Given the description of an element on the screen output the (x, y) to click on. 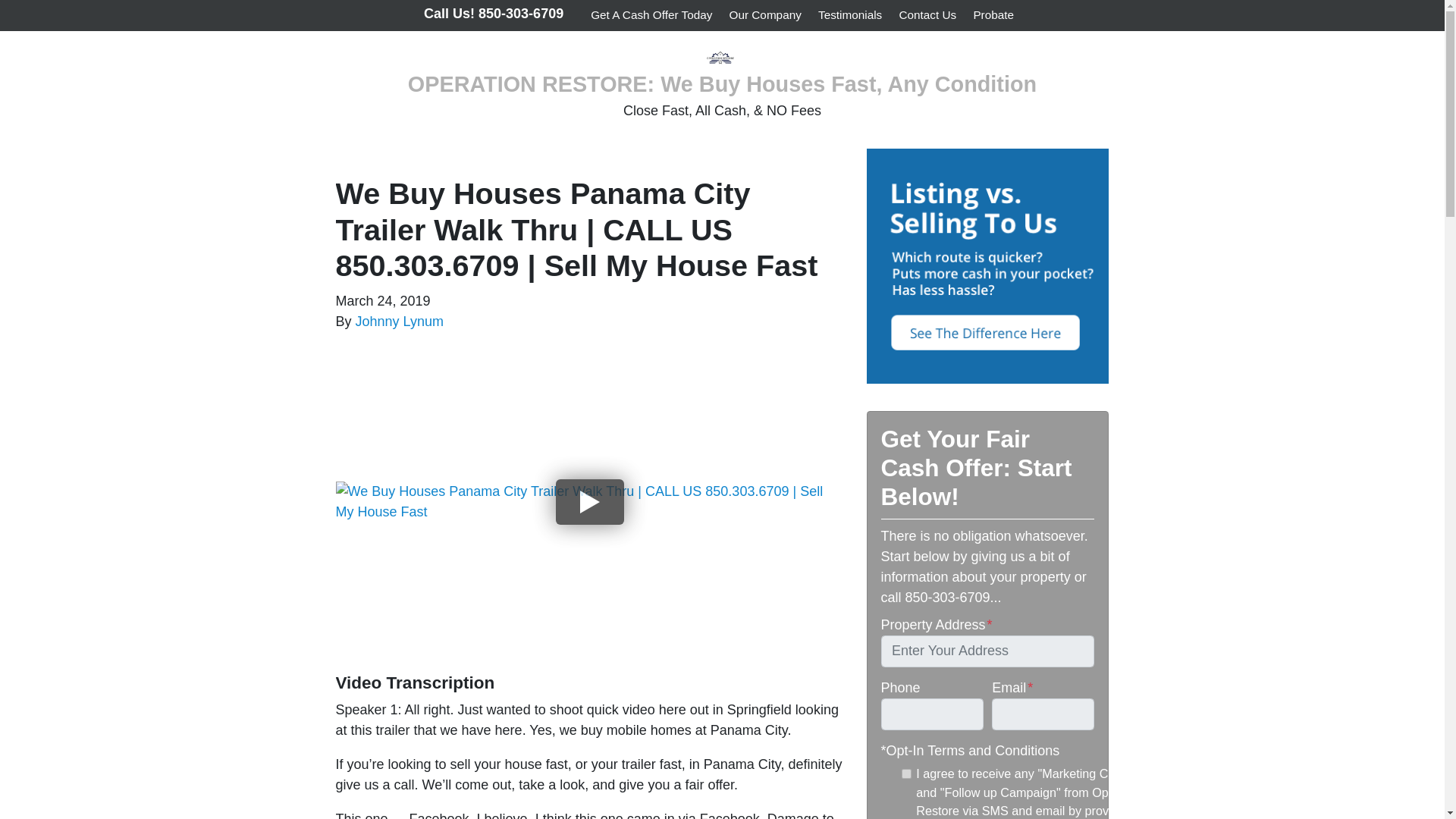
Johnny Lynum (399, 321)
Testimonials (849, 15)
Contact Us (926, 15)
Our Company (765, 15)
Probate (993, 15)
Get A Cash Offer Today (651, 15)
